Given the description of an element on the screen output the (x, y) to click on. 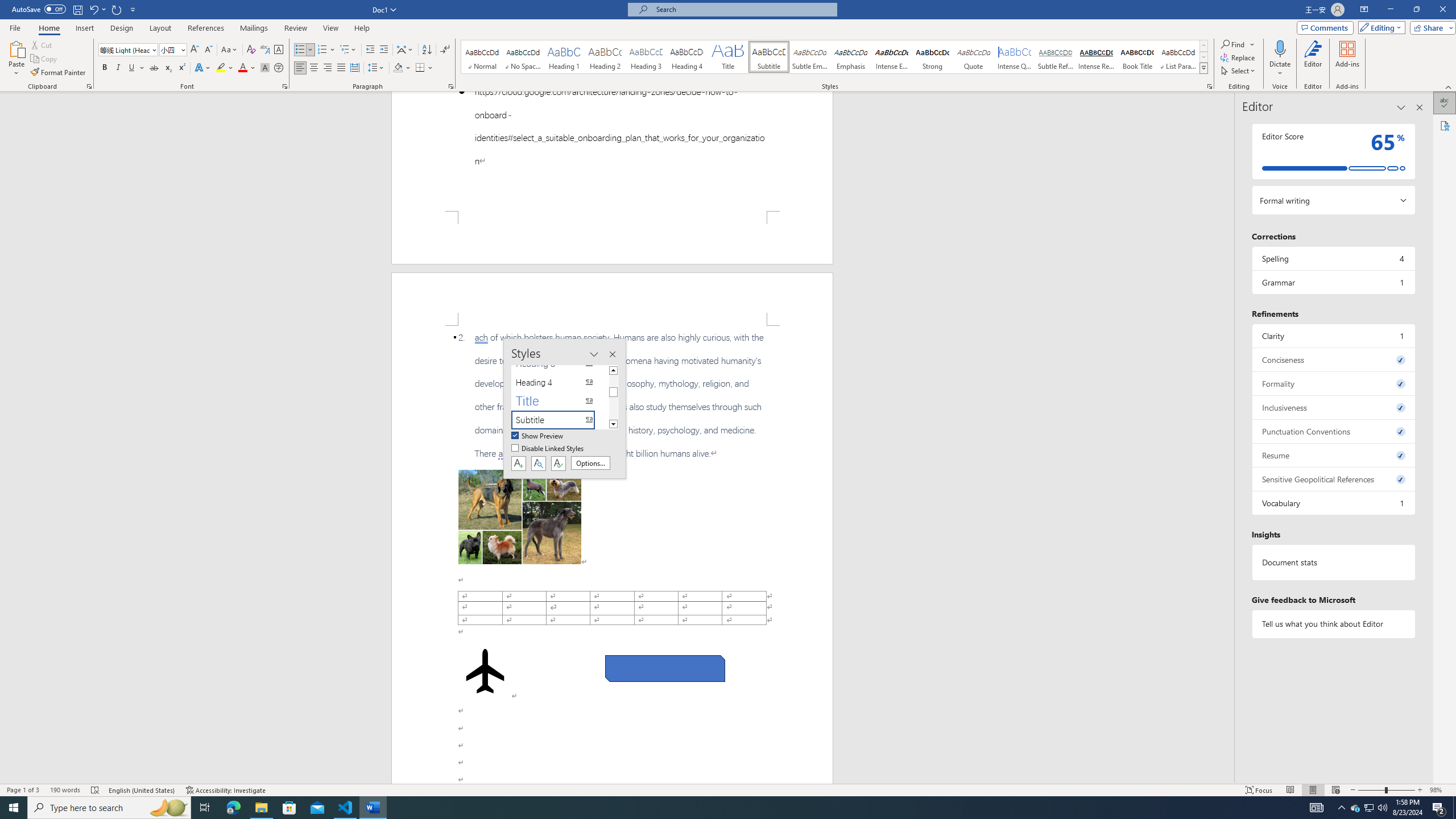
Strong (932, 56)
Repeat Bullet Default (117, 9)
Language English (United States) (141, 790)
Replace... (1237, 56)
Airplane with solid fill (485, 670)
Show/Hide Editing Marks (444, 49)
Text Effects and Typography (202, 67)
Italic (118, 67)
Heading 2 (605, 56)
Shrink Font (208, 49)
